Given the description of an element on the screen output the (x, y) to click on. 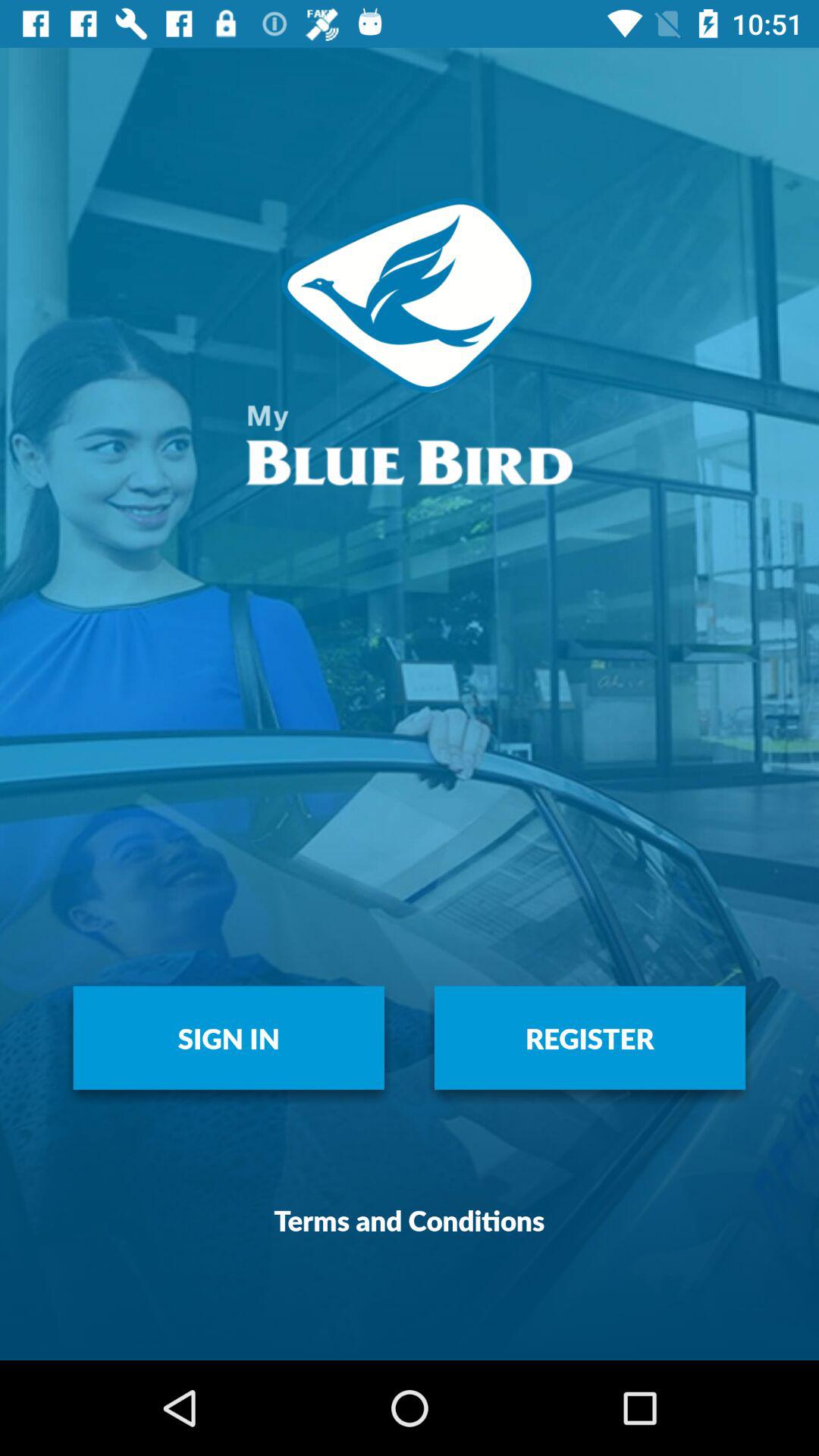
turn off icon next to register item (228, 1037)
